Given the description of an element on the screen output the (x, y) to click on. 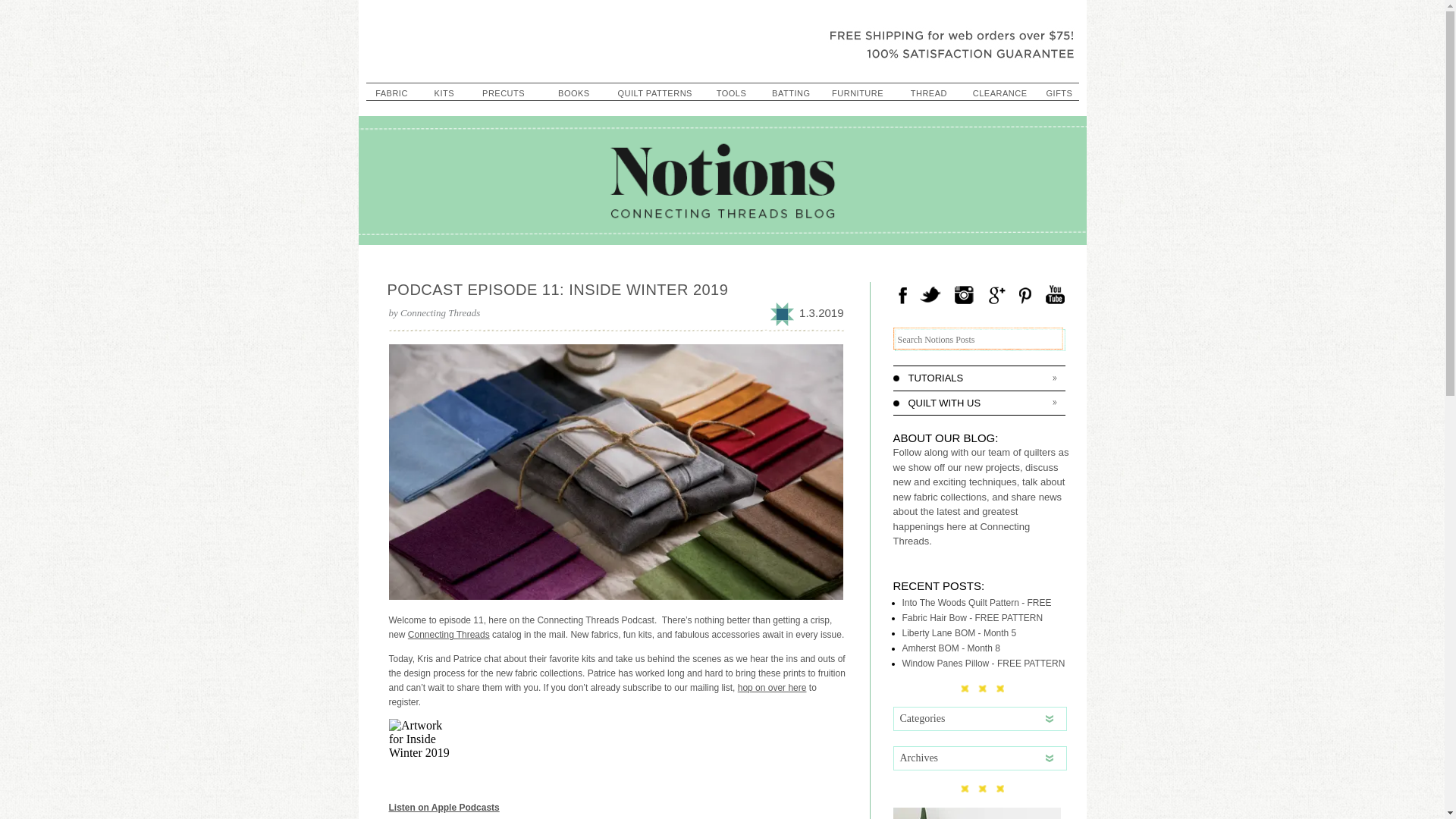
BATTING (790, 93)
CLEARANCE (999, 93)
Fabric Hair Bow - FREE PATTERN (972, 617)
KITS (443, 93)
Podcast Episode 11: Inside Winter 2019 (557, 289)
Notions - The Connecting Threads Staff Blog (722, 39)
THREAD (928, 93)
Window Panes Pillow - FREE PATTERN (983, 663)
Notions - The Connecting Threads Staff Blog (722, 39)
Quilting Books (574, 93)
